Given the description of an element on the screen output the (x, y) to click on. 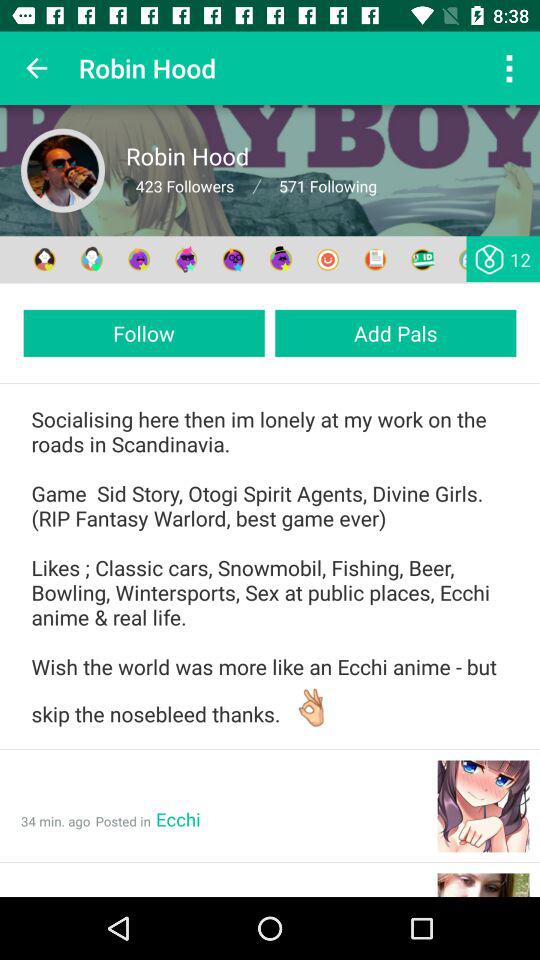
press follow on the left (143, 332)
